Given the description of an element on the screen output the (x, y) to click on. 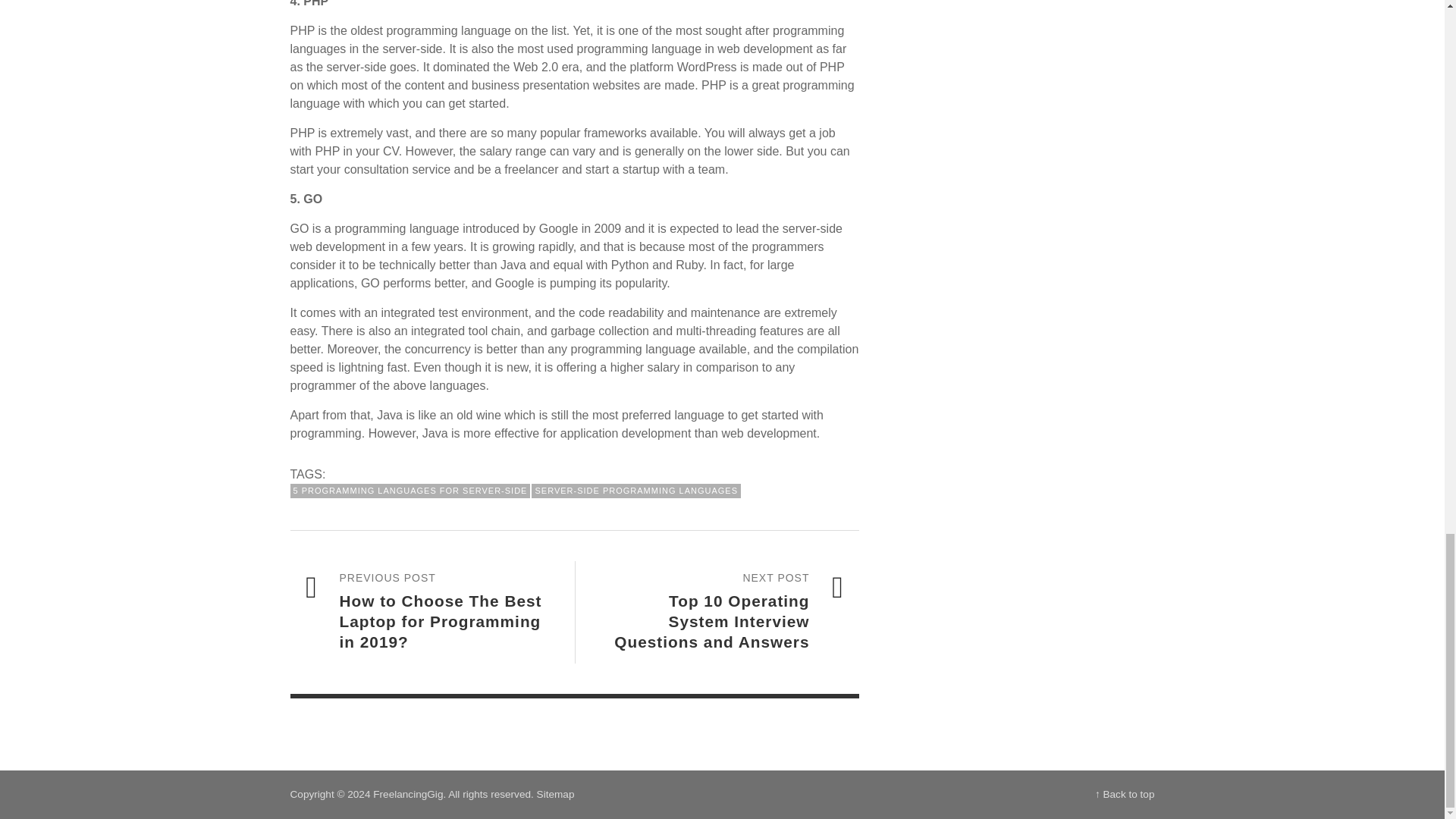
5 PROGRAMMING LANGUAGES FOR SERVER-SIDE (409, 490)
Sitemap (556, 794)
SERVER-SIDE PROGRAMMING LANGUAGES (636, 490)
View all posts in 5 Programming Languages for Server-Side (409, 490)
